Given the description of an element on the screen output the (x, y) to click on. 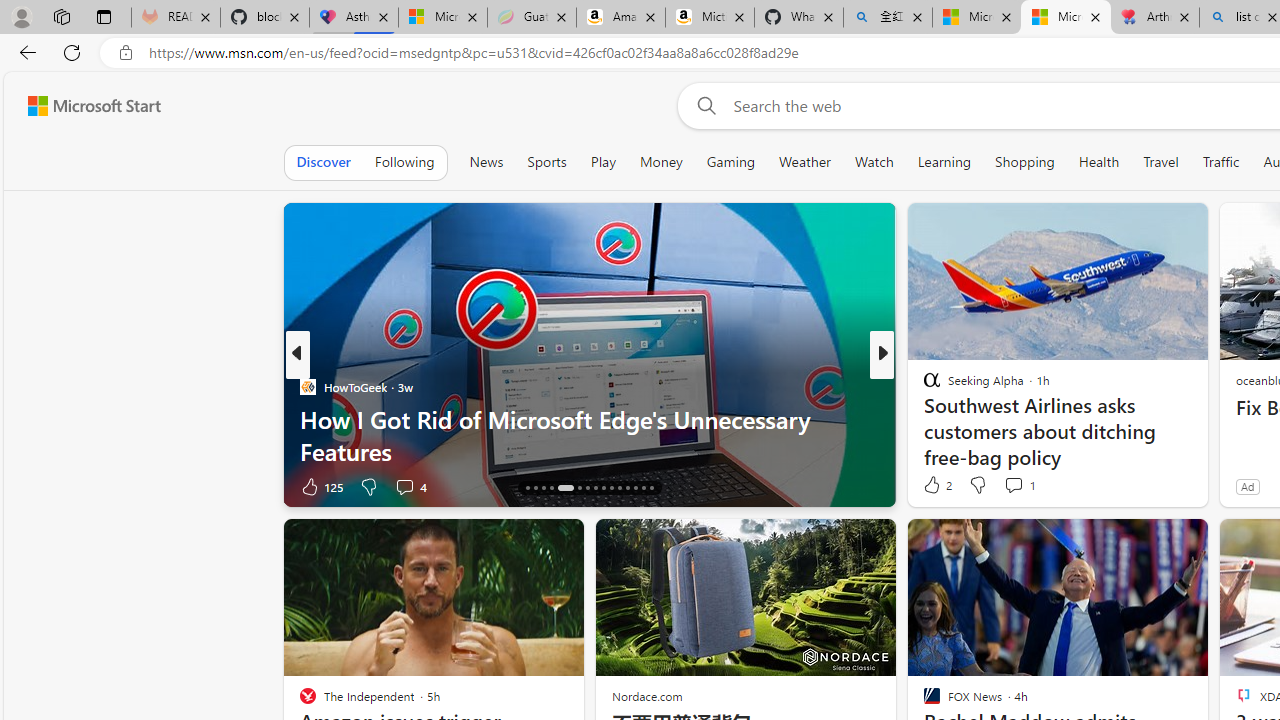
View comments 7 Comment (1026, 486)
AutomationID: tab-26 (619, 487)
Allrecipes (923, 386)
AutomationID: tab-23 (595, 487)
View comments 20 Comment (1019, 485)
AutomationID: tab-16 (527, 487)
